Given the description of an element on the screen output the (x, y) to click on. 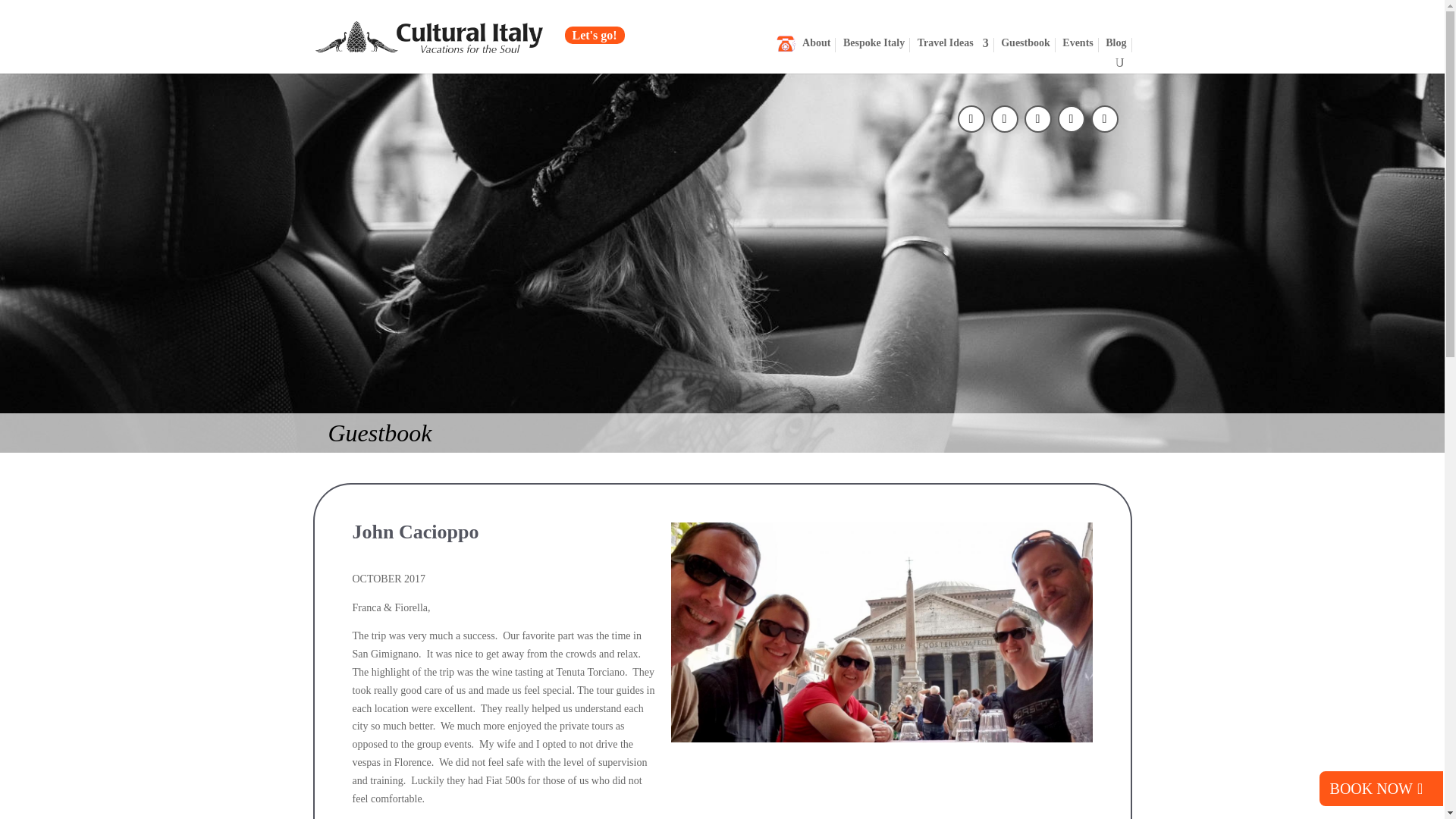
Call 1 800 380 0014 (781, 63)
Guestbook (1025, 44)
Follow on Pinterest (1069, 117)
Follow on Instagram (1035, 117)
Follow on LinkedIn (1102, 117)
About (815, 44)
Follow on X (1002, 117)
Bespoke Italy (873, 44)
Events (1077, 44)
Search (1115, 62)
Follow on Facebook (968, 117)
Travel Ideas (952, 44)
Let's go! (594, 35)
Blog (1115, 44)
Search (1115, 62)
